Given the description of an element on the screen output the (x, y) to click on. 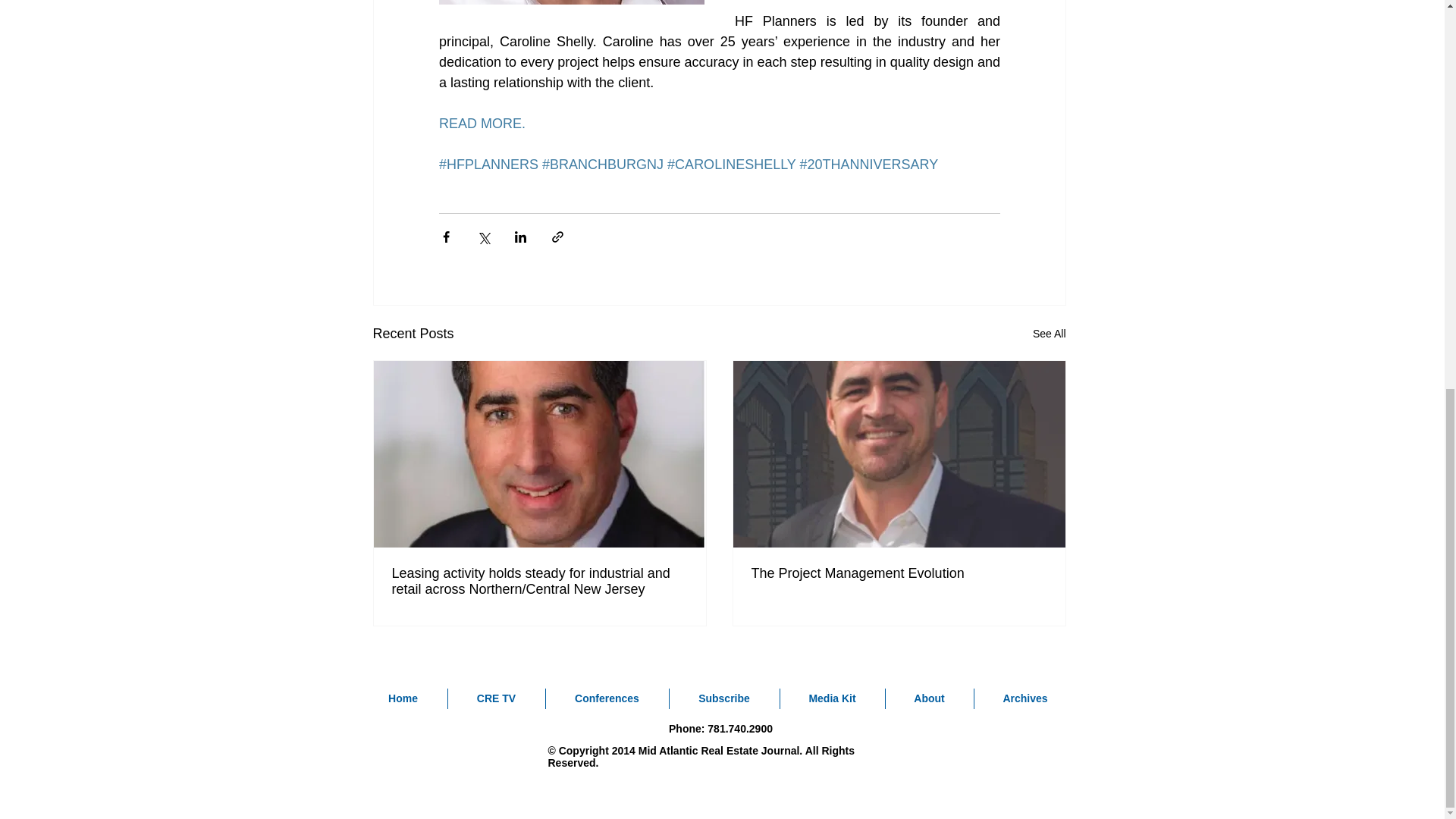
CRE TV (495, 698)
Subscribe (723, 698)
Media Kit (830, 698)
READ MORE.  (483, 123)
About (929, 698)
See All (1048, 333)
Home (402, 698)
The Project Management Evolution (898, 573)
